Given the description of an element on the screen output the (x, y) to click on. 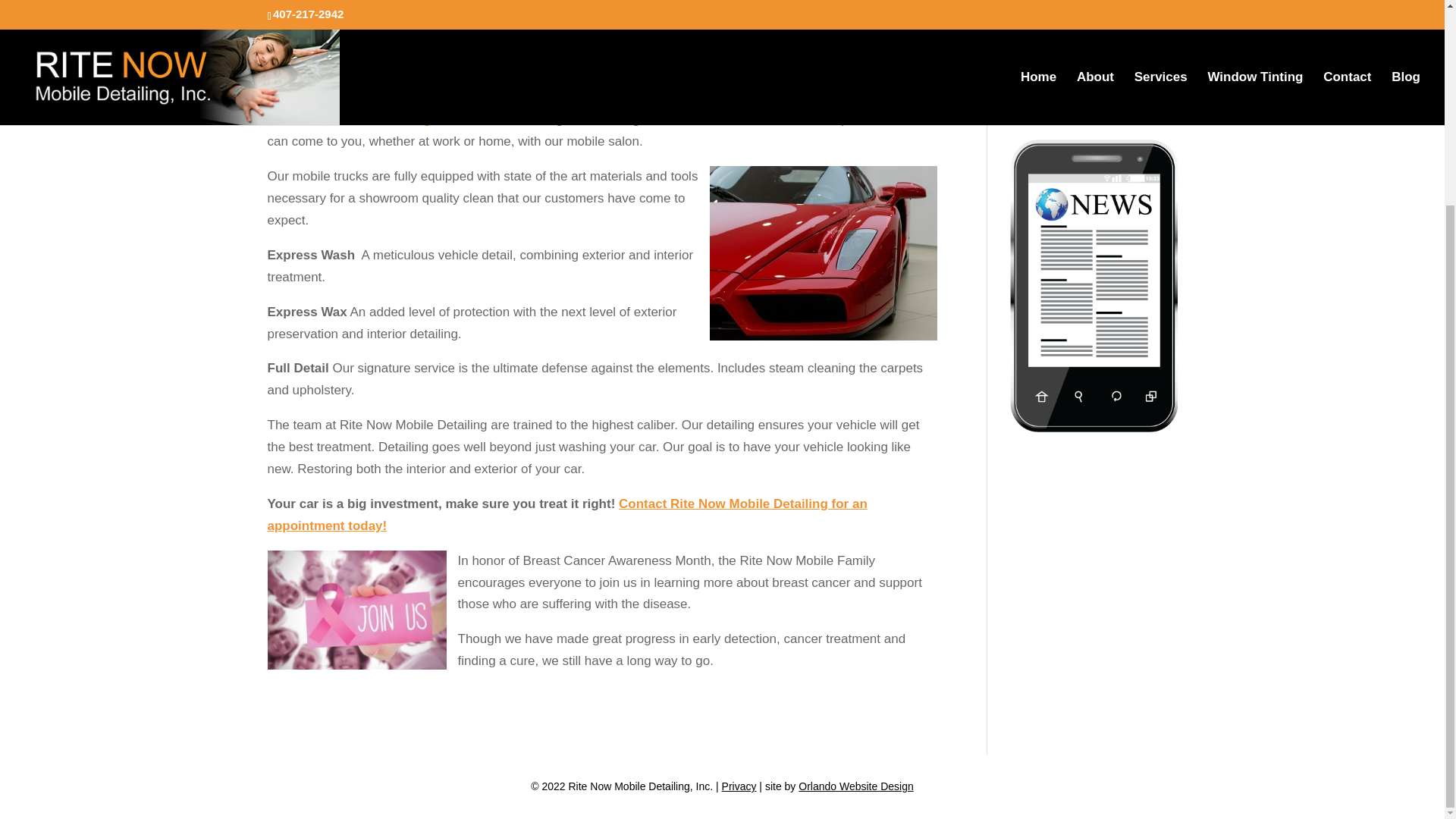
Privacy (739, 786)
Rite Now Mobile Detailing (356, 119)
Contact Rite Now Mobile Detailing for an appointment today! (566, 514)
Orlando Website Design (854, 786)
